Given the description of an element on the screen output the (x, y) to click on. 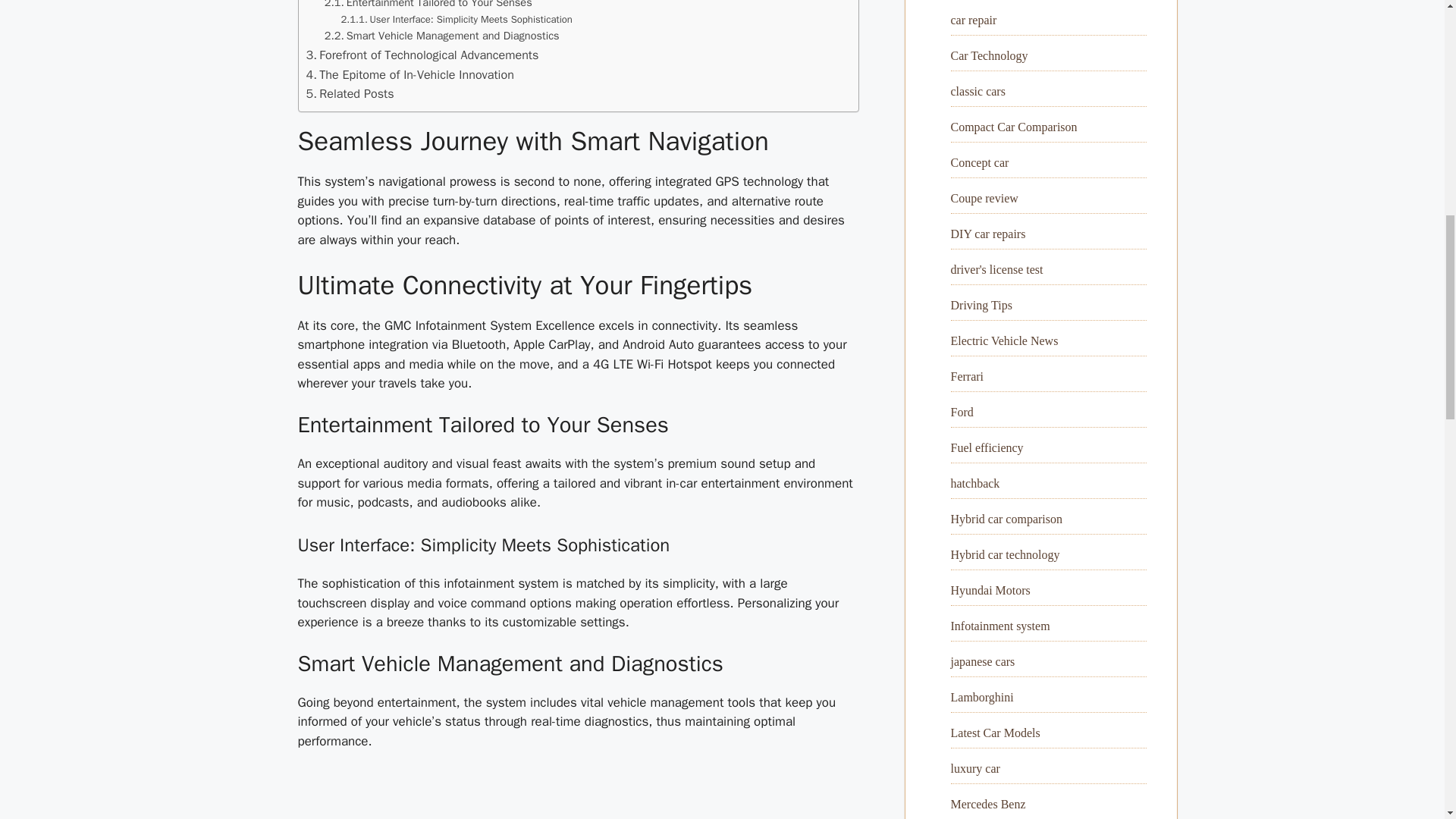
Forefront of Technological Advancements (421, 55)
Related Posts (349, 94)
Entertainment Tailored to Your Senses (428, 5)
Smart Vehicle Management and Diagnostics (441, 36)
The Epitome of In-Vehicle Innovation (409, 75)
Smart Vehicle Management and Diagnostics (441, 36)
User Interface: Simplicity Meets Sophistication (456, 19)
Entertainment Tailored to Your Senses (428, 5)
Related Posts (349, 94)
User Interface: Simplicity Meets Sophistication (456, 19)
The Epitome of In-Vehicle Innovation (409, 75)
Forefront of Technological Advancements (421, 55)
